Given the description of an element on the screen output the (x, y) to click on. 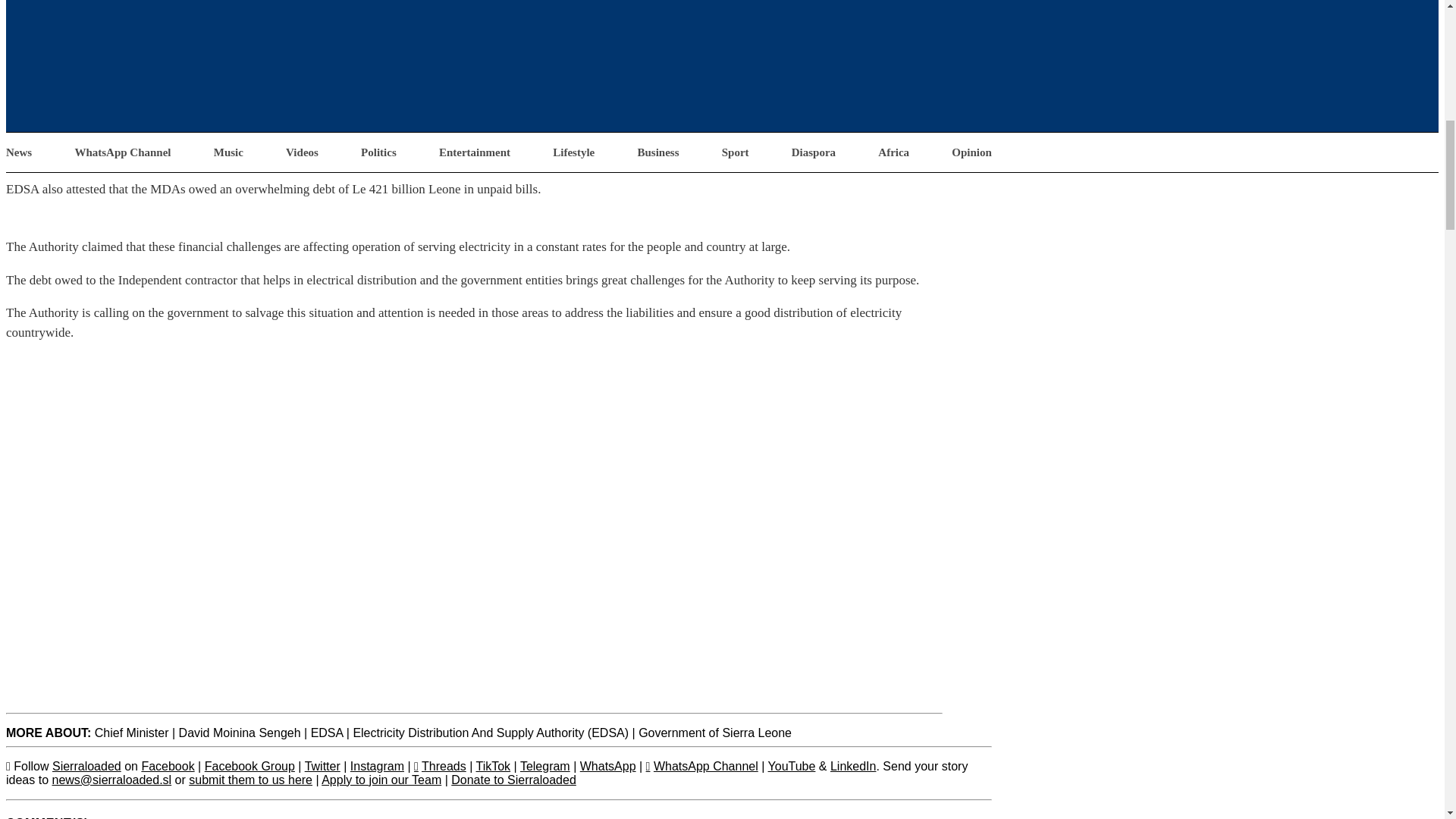
David Moinina Sengeh (240, 732)
EDSA (327, 732)
Chief Minister (131, 732)
Government of Sierra Leone (715, 732)
